Given the description of an element on the screen output the (x, y) to click on. 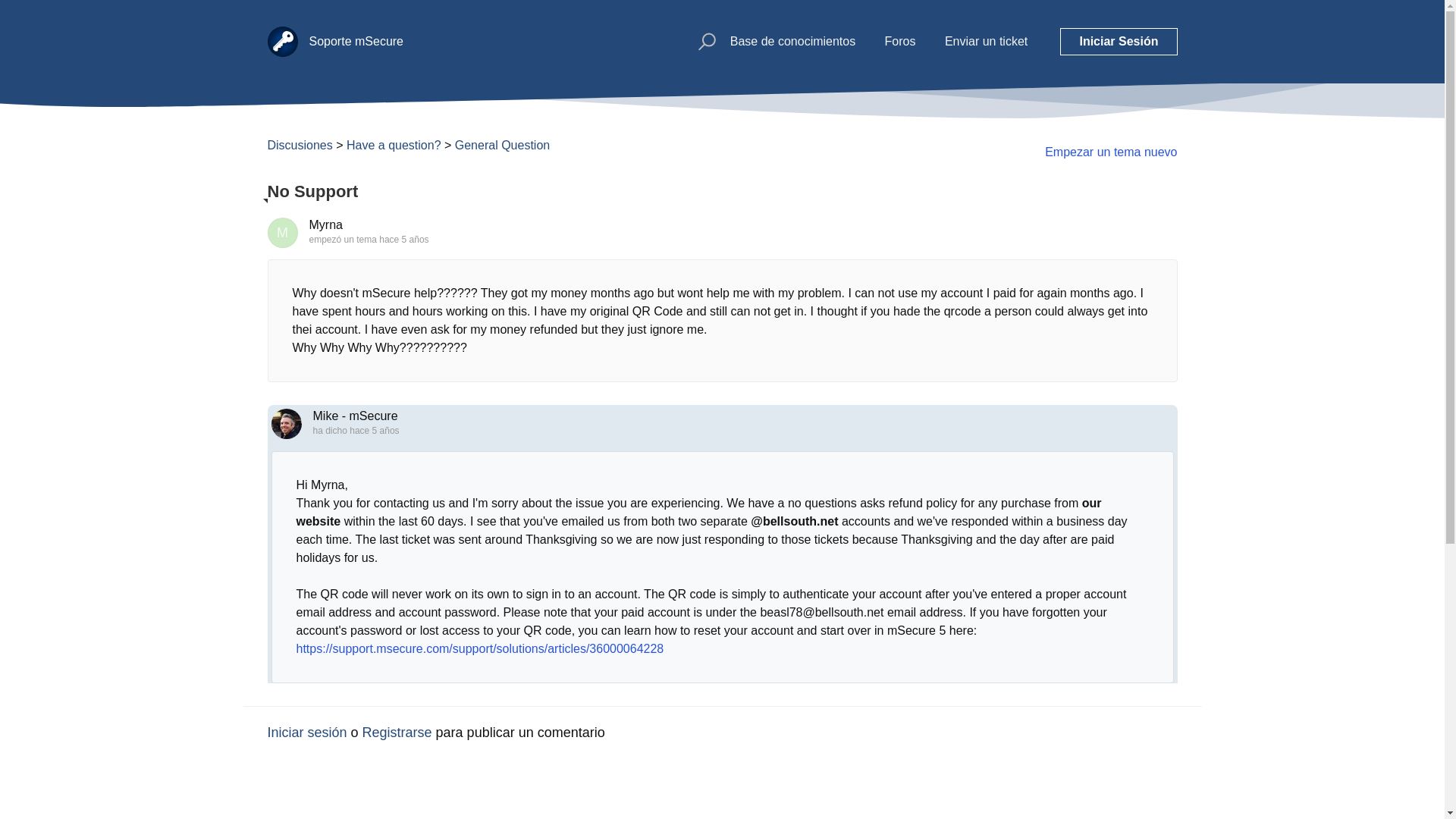
Lun, Dic 2, 2019 a  9:59 A. M. (373, 430)
Have a question? (393, 144)
General Question (502, 144)
Foros (900, 41)
Registrarse (397, 732)
Base de conocimientos (793, 41)
Empezar un tema nuevo (1110, 151)
Dom, Dic 1, 2019 a  1:49 P. M. (403, 239)
Discusiones (298, 144)
Empezar un tema nuevo (1110, 151)
Enviar un ticket (985, 41)
